Given the description of an element on the screen output the (x, y) to click on. 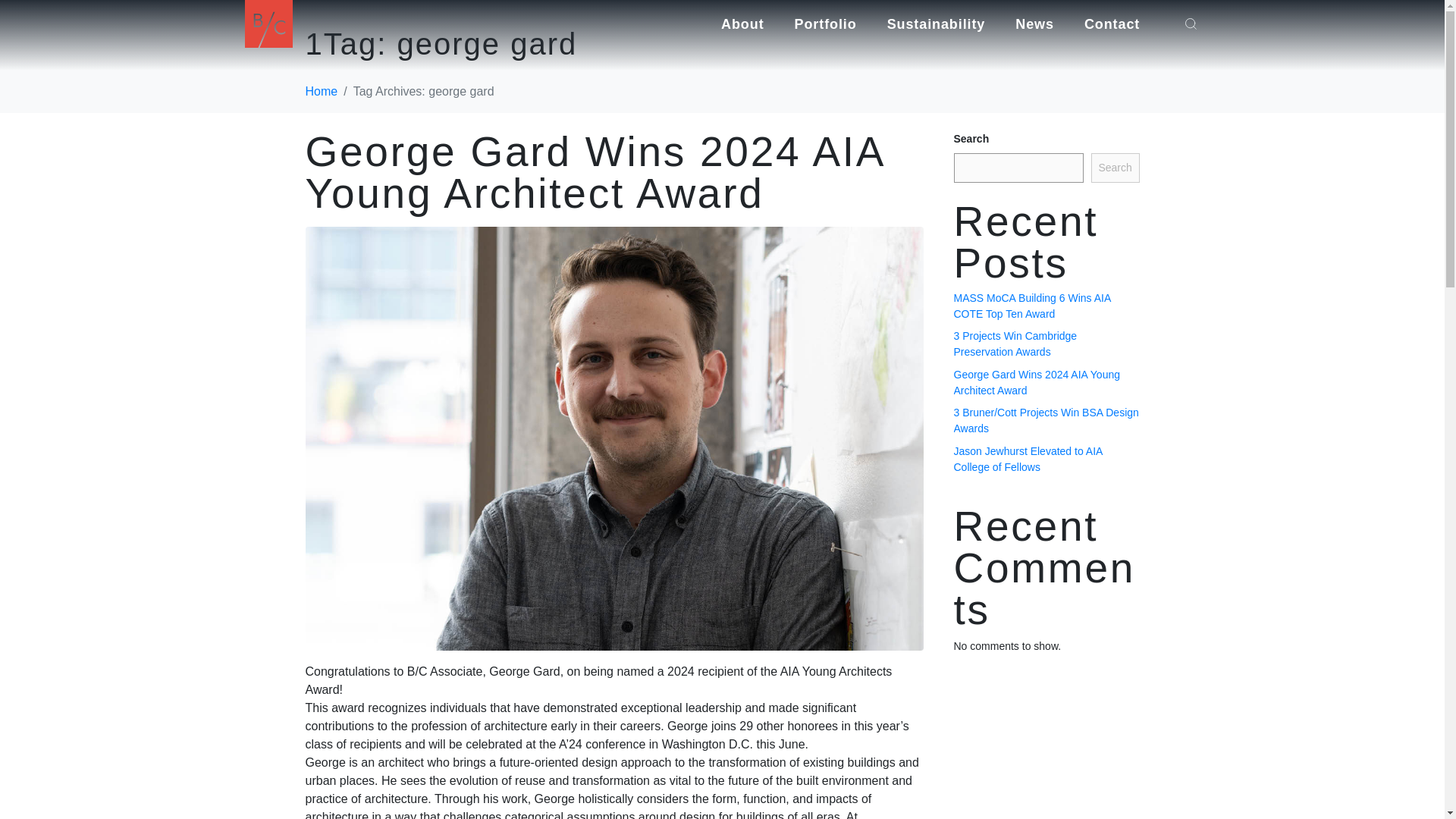
About (741, 23)
George Gard Wins 2024 AIA Young Architect Award (593, 172)
Portfolio (825, 23)
George Gard Wins 2024 AIA Young Architect Award (613, 437)
Sustainability (935, 23)
Contact (1112, 23)
News (1034, 23)
